Given the description of an element on the screen output the (x, y) to click on. 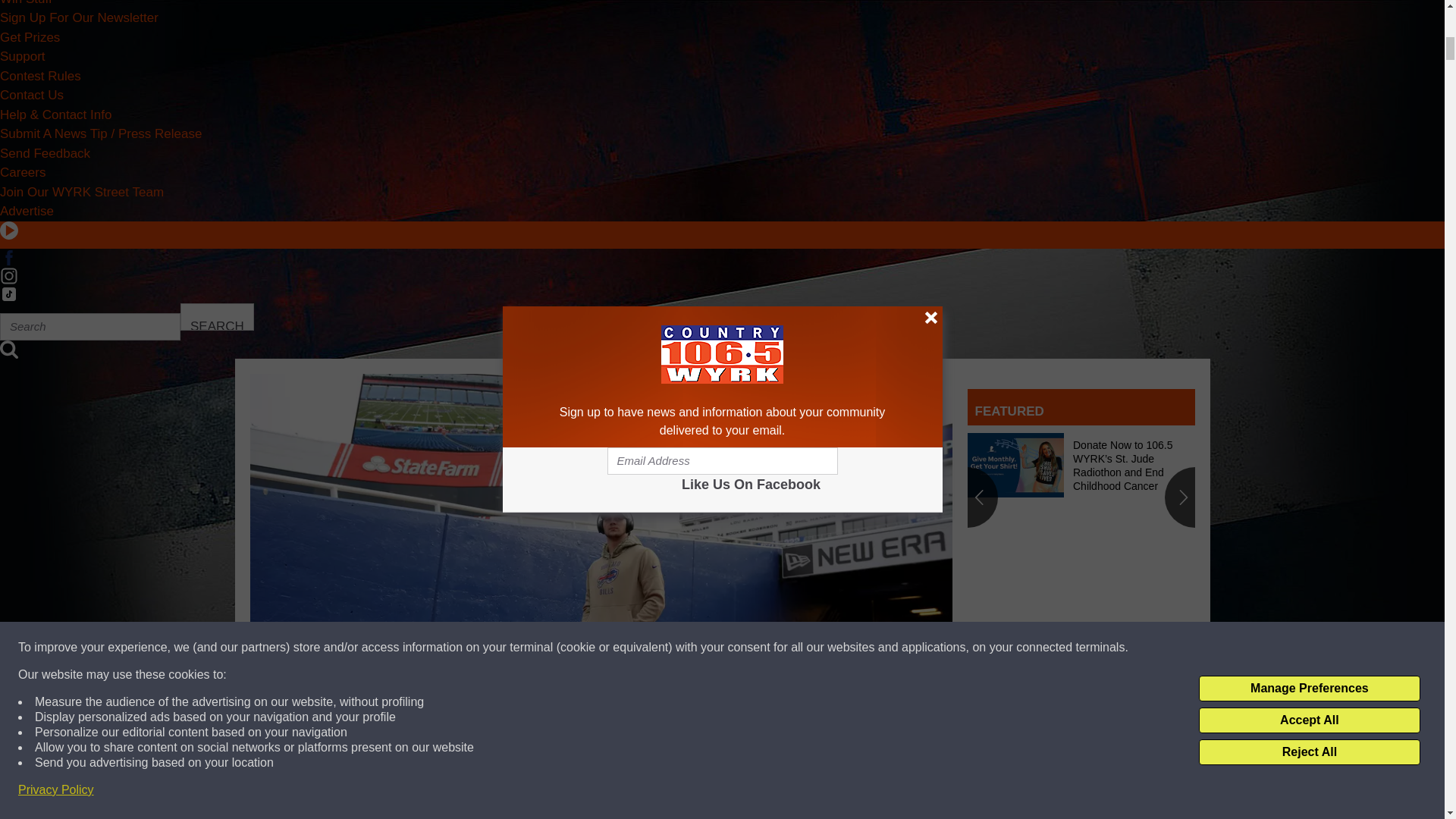
SEARCH (216, 316)
SEARCH (216, 316)
